Given the description of an element on the screen output the (x, y) to click on. 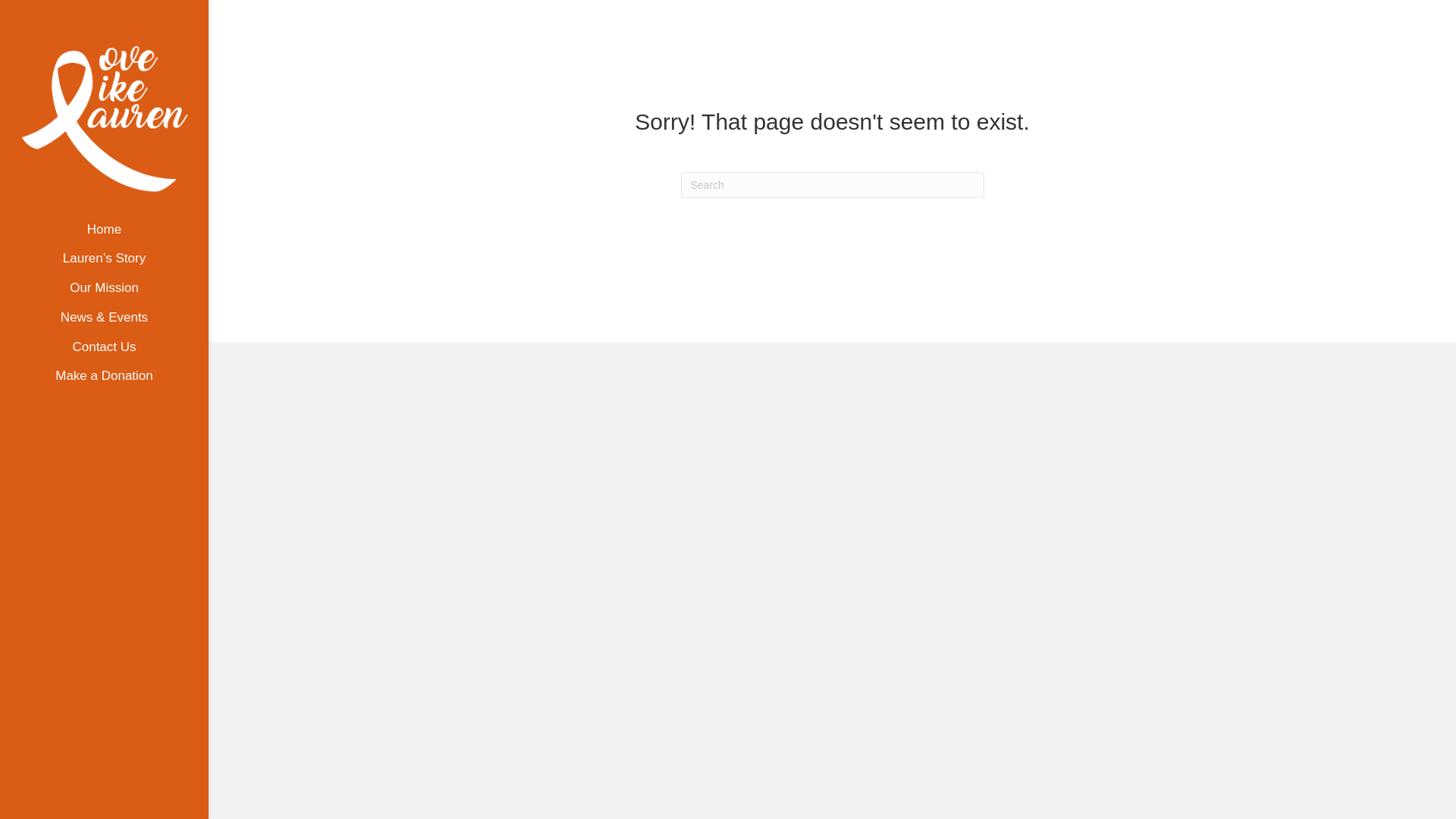
Our Mission (104, 293)
Type and press Enter to search. (832, 184)
Home (104, 234)
